Given the description of an element on the screen output the (x, y) to click on. 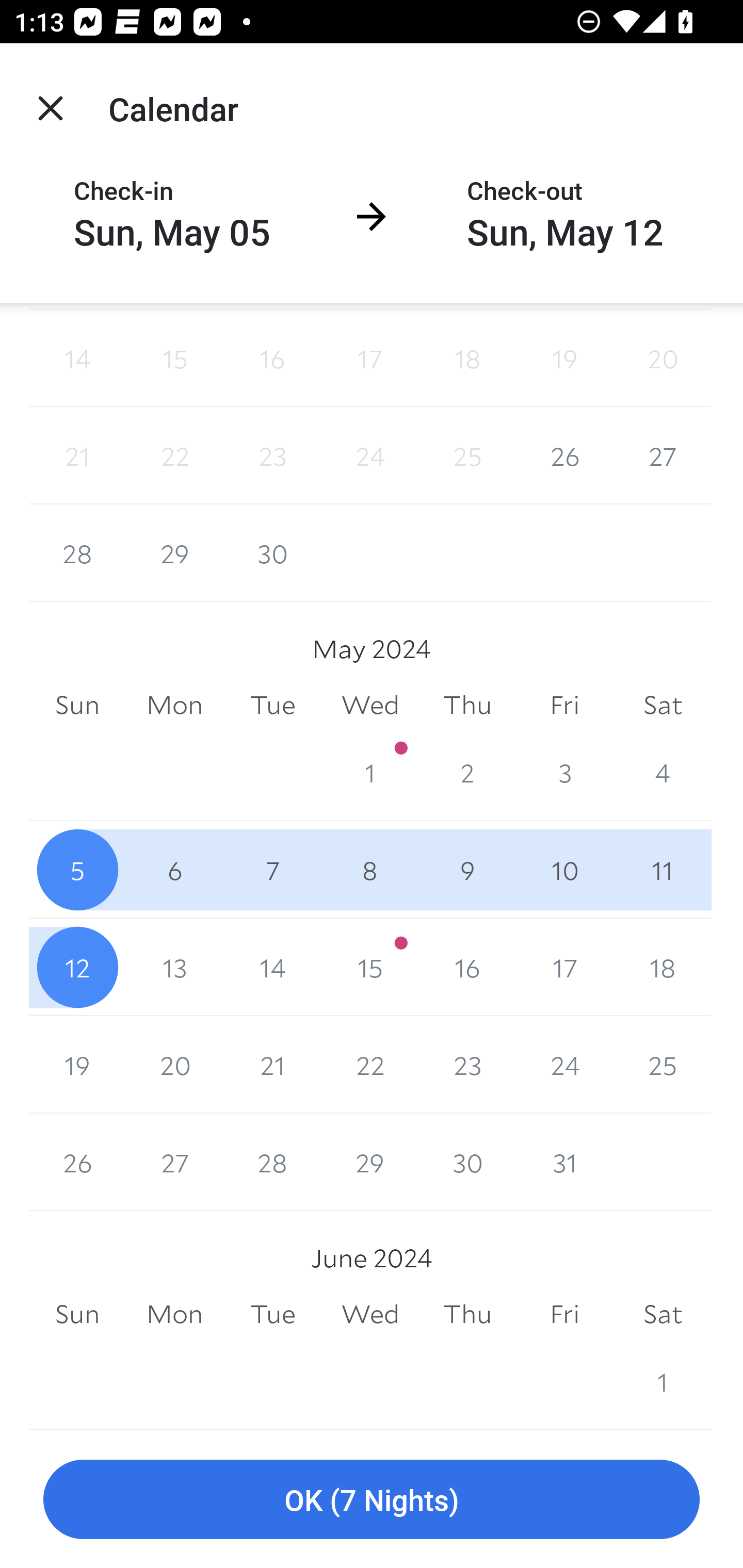
14 14 April 2024 (77, 357)
15 15 April 2024 (174, 357)
16 16 April 2024 (272, 357)
17 17 April 2024 (370, 357)
18 18 April 2024 (467, 357)
19 19 April 2024 (564, 357)
20 20 April 2024 (662, 357)
21 21 April 2024 (77, 455)
22 22 April 2024 (174, 455)
23 23 April 2024 (272, 455)
24 24 April 2024 (370, 455)
25 25 April 2024 (467, 455)
26 26 April 2024 (564, 455)
27 27 April 2024 (662, 455)
28 28 April 2024 (77, 553)
29 29 April 2024 (174, 553)
30 30 April 2024 (272, 553)
Sun (77, 705)
Mon (174, 705)
Tue (272, 705)
Wed (370, 705)
Thu (467, 705)
Fri (564, 705)
Sat (662, 705)
1 1 May 2024 (370, 772)
2 2 May 2024 (467, 772)
3 3 May 2024 (564, 772)
4 4 May 2024 (662, 772)
5 5 May 2024 (77, 869)
6 6 May 2024 (174, 869)
7 7 May 2024 (272, 869)
8 8 May 2024 (370, 869)
9 9 May 2024 (467, 869)
10 10 May 2024 (564, 869)
11 11 May 2024 (662, 869)
12 12 May 2024 (77, 967)
13 13 May 2024 (174, 967)
14 14 May 2024 (272, 967)
15 15 May 2024 (370, 967)
16 16 May 2024 (467, 967)
17 17 May 2024 (564, 967)
18 18 May 2024 (662, 967)
19 19 May 2024 (77, 1064)
20 20 May 2024 (174, 1064)
21 21 May 2024 (272, 1064)
22 22 May 2024 (370, 1064)
23 23 May 2024 (467, 1064)
24 24 May 2024 (564, 1064)
25 25 May 2024 (662, 1064)
26 26 May 2024 (77, 1161)
27 27 May 2024 (174, 1161)
28 28 May 2024 (272, 1161)
29 29 May 2024 (370, 1161)
30 30 May 2024 (467, 1161)
31 31 May 2024 (564, 1161)
Sun (77, 1313)
Mon (174, 1313)
Tue (272, 1313)
Wed (370, 1313)
Thu (467, 1313)
Fri (564, 1313)
Sat (662, 1313)
1 1 June 2024 (662, 1381)
OK (7 Nights) (371, 1499)
